Given the description of an element on the screen output the (x, y) to click on. 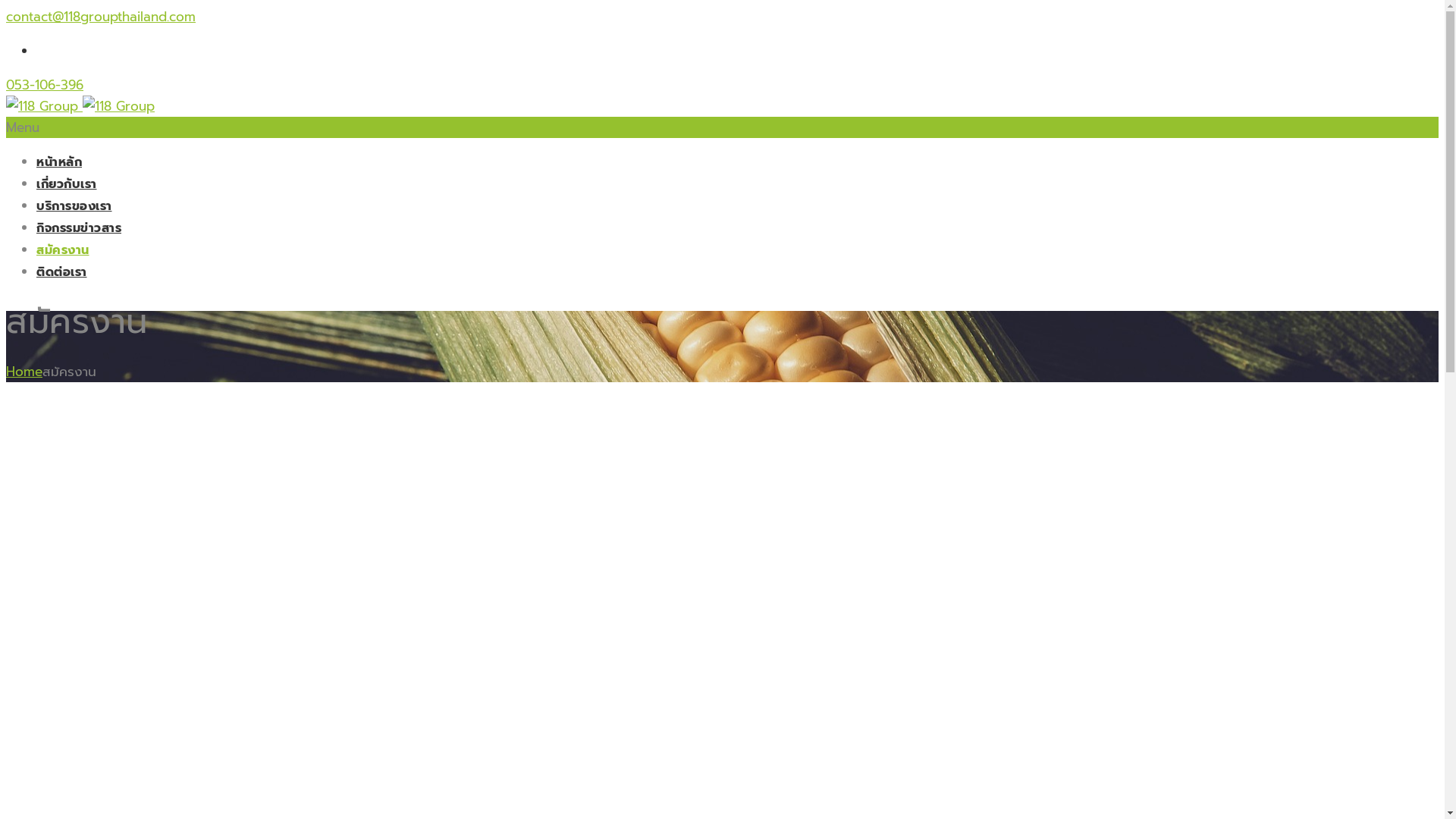
118 Group Element type: hover (118, 105)
contact@118groupthailand.com Element type: text (100, 16)
Home Element type: text (24, 371)
118 Group Element type: hover (42, 105)
118 Group Element type: hover (80, 106)
053-106-396 Element type: text (44, 84)
